Given the description of an element on the screen output the (x, y) to click on. 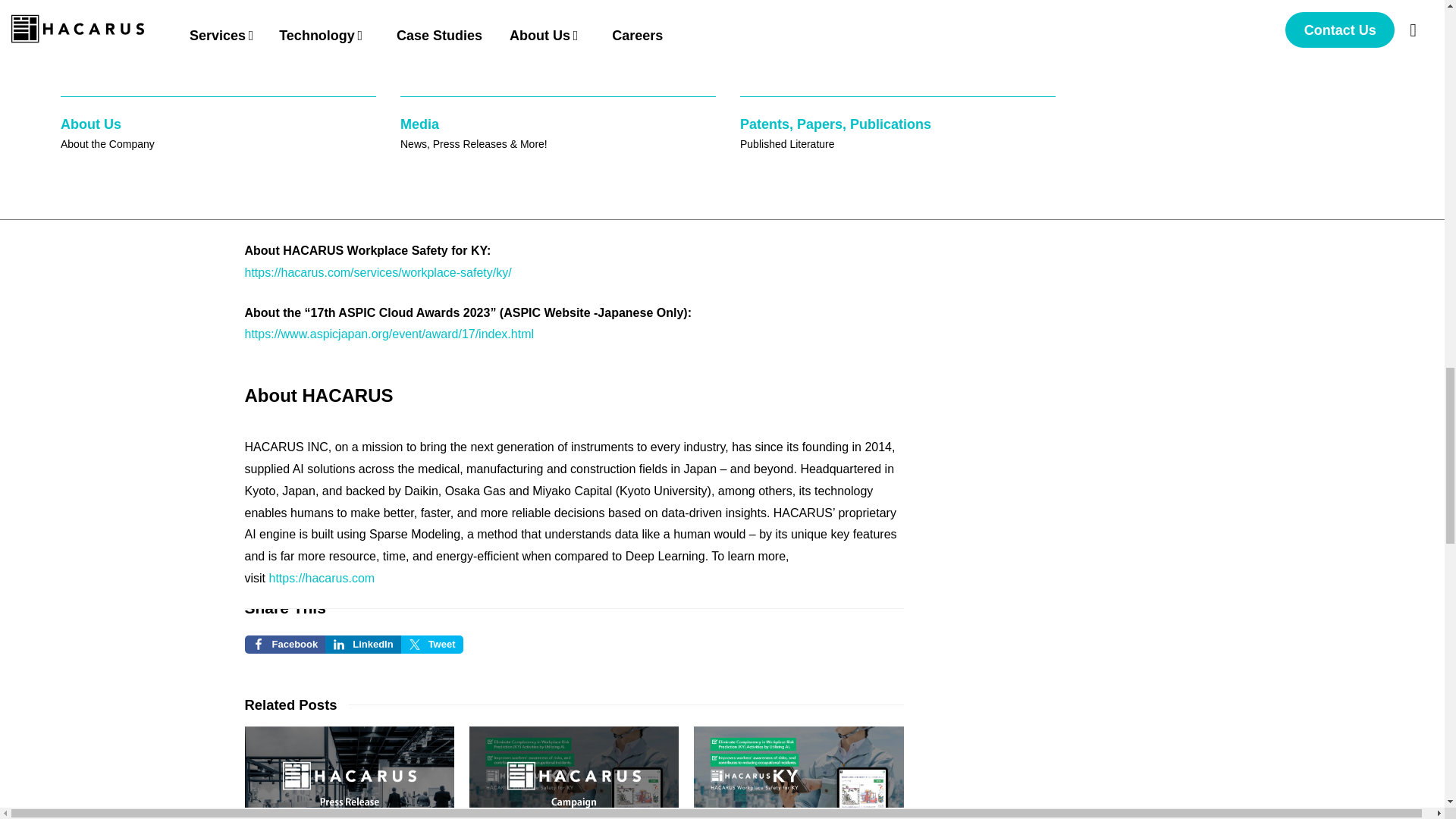
Facebook (284, 644)
Tweet (432, 644)
HACARUS Workplace Safety for KY Enhanced with New Features (798, 767)
Meet HACARUS at TECH BEAT Shizuoka 2024 (348, 767)
Share on Facebook (284, 644)
Share on LinkedIn (362, 644)
LinkedIn (362, 644)
Share on Twitter (432, 644)
